Given the description of an element on the screen output the (x, y) to click on. 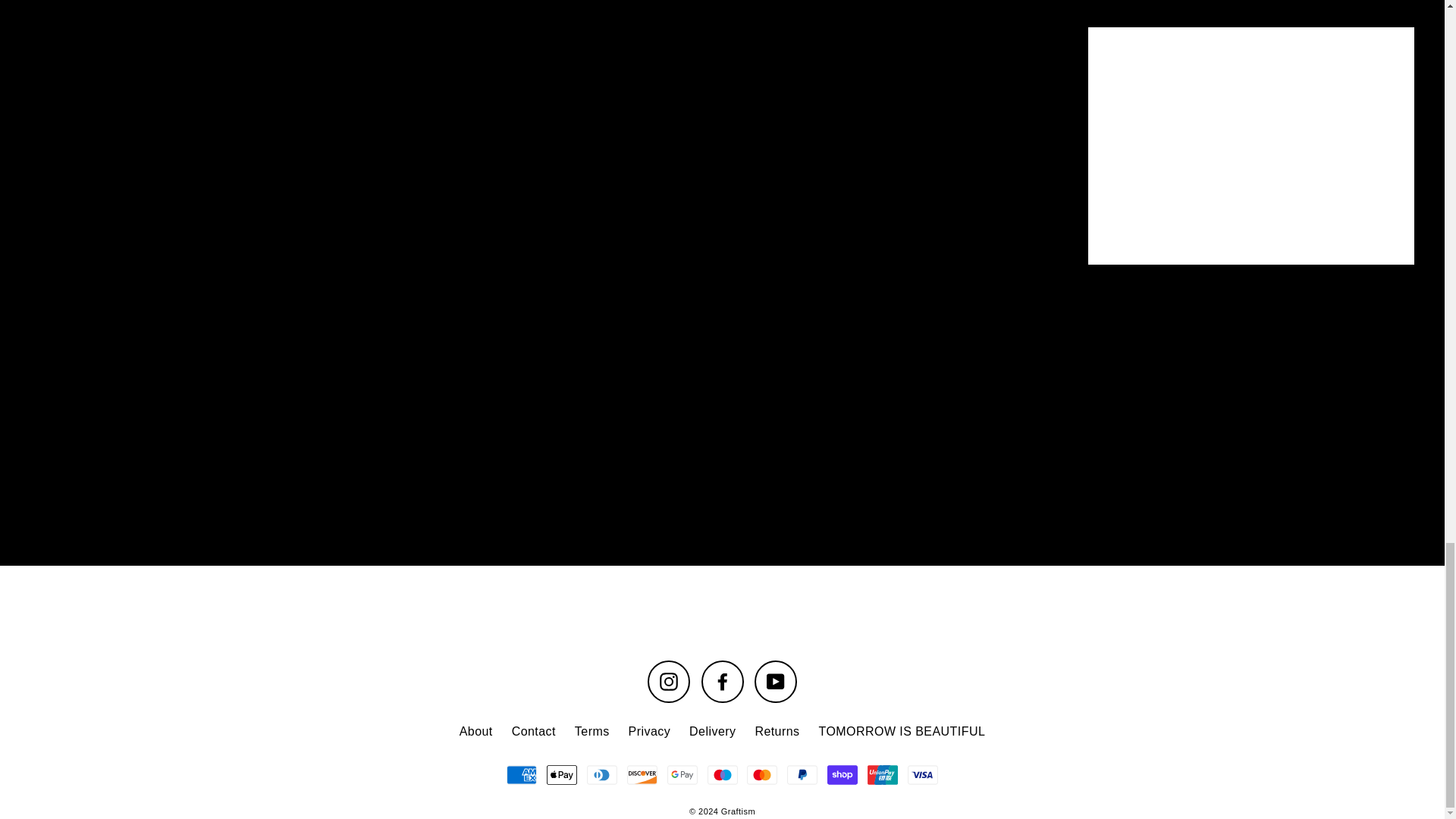
Google Pay (681, 775)
Apple Pay (561, 775)
Discover (642, 775)
Shop Pay (842, 775)
Union Pay (882, 775)
Graftism on Instagram (668, 681)
PayPal (801, 775)
Diners Club (601, 775)
Graftism on YouTube (775, 681)
Mastercard (761, 775)
